Given the description of an element on the screen output the (x, y) to click on. 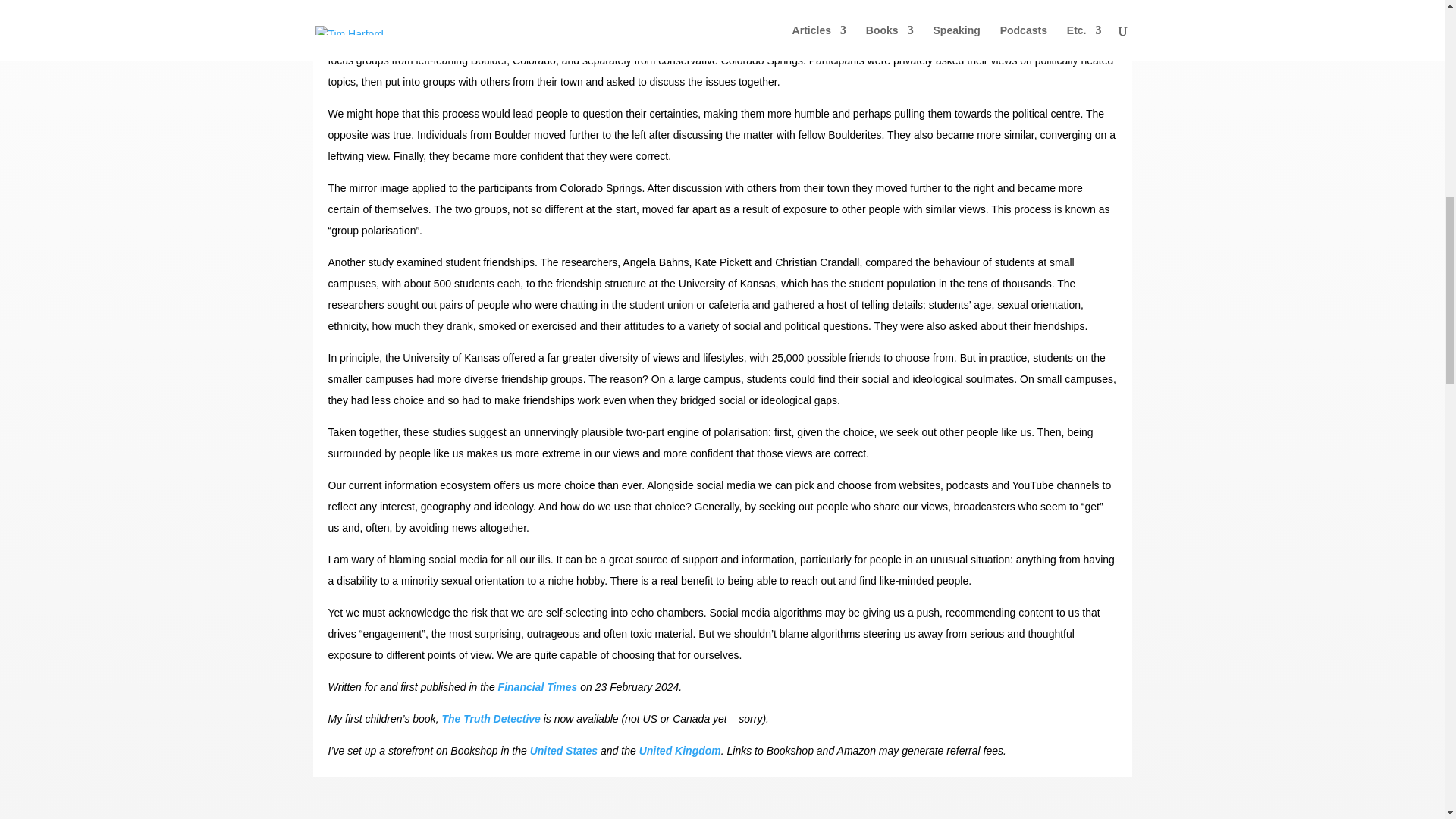
United States (562, 750)
United Kingdom (679, 750)
The Truth Detective (490, 718)
Financial Times (537, 686)
